Given the description of an element on the screen output the (x, y) to click on. 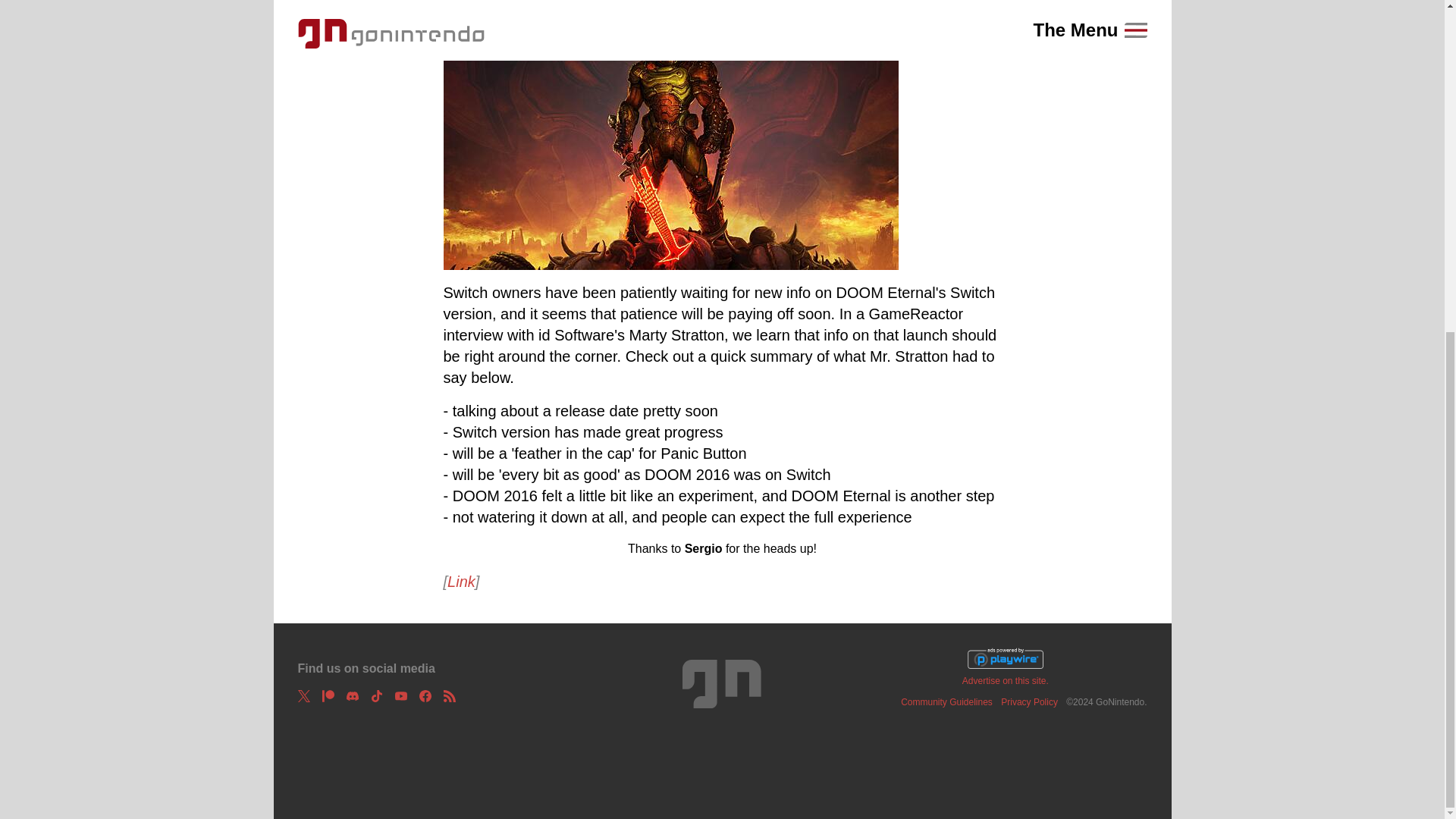
Support GN on Patreon (327, 695)
Follow us on X (302, 695)
Follow us on TikTok (375, 695)
Discord Invite (352, 695)
